Given the description of an element on the screen output the (x, y) to click on. 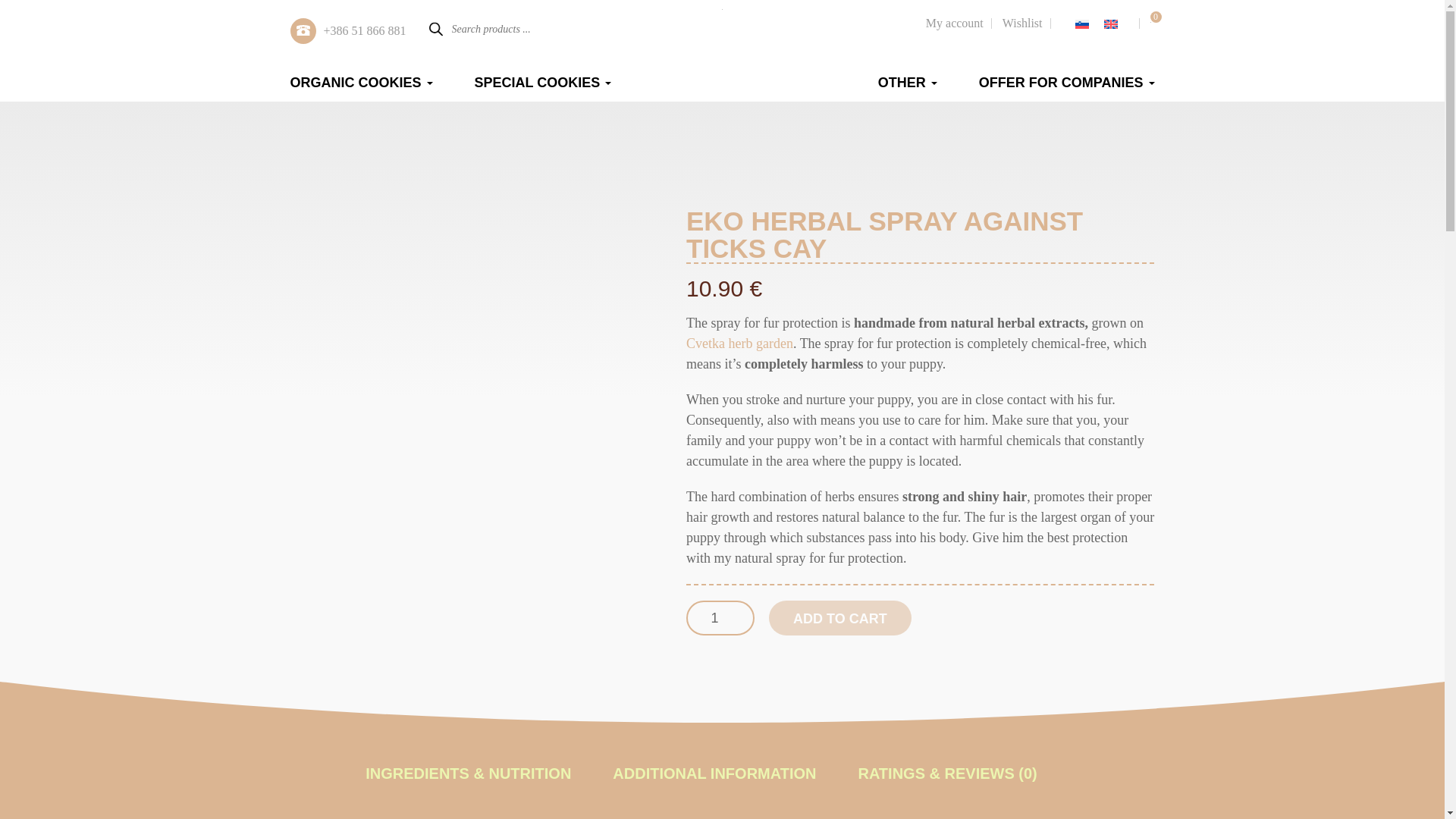
Organic cookies (360, 82)
Special cookies (542, 82)
1 (719, 617)
